Given the description of an element on the screen output the (x, y) to click on. 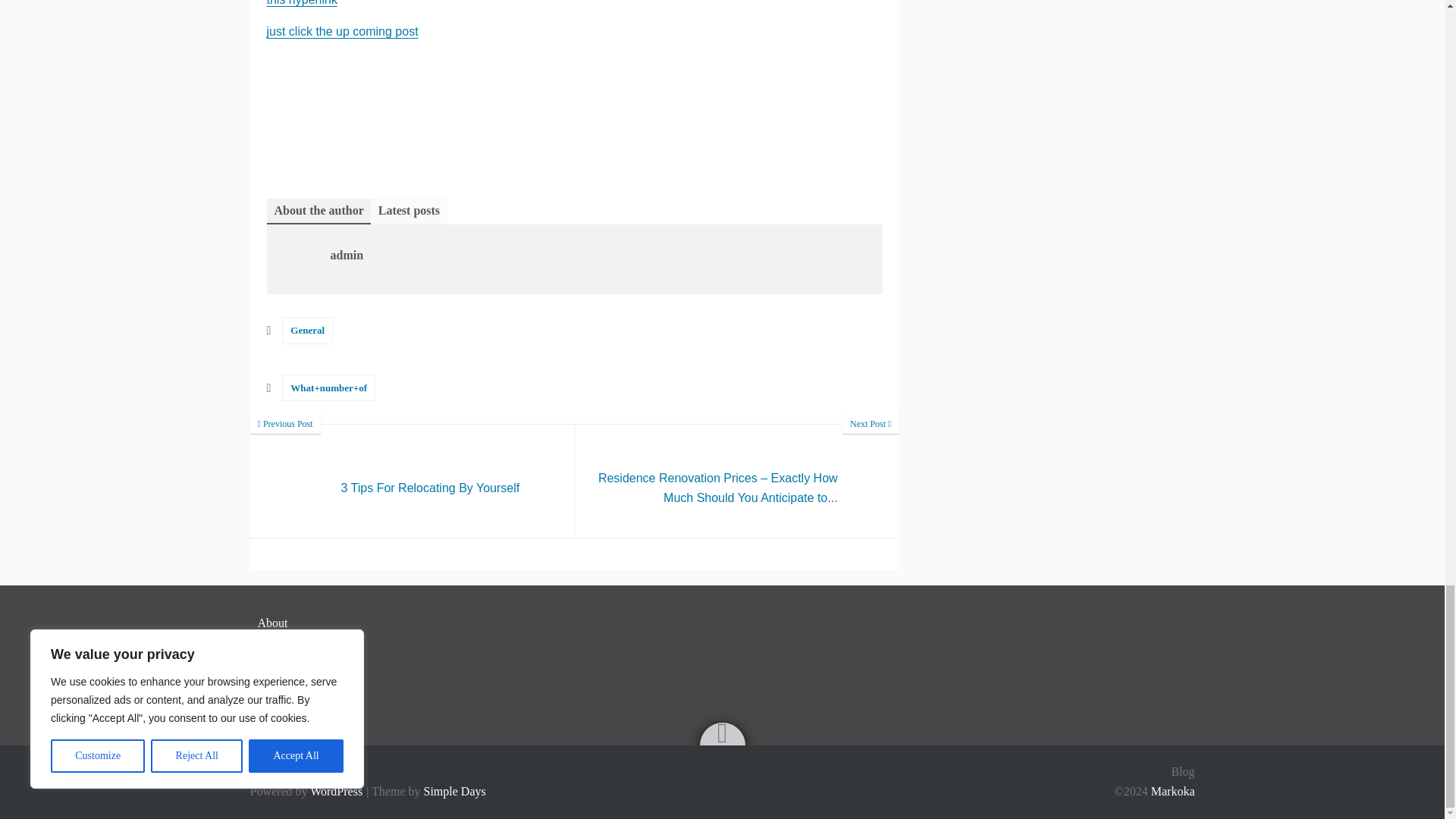
this hyperlink (301, 2)
General (307, 329)
just click the up coming post (412, 480)
3 Tips For Relocating By Yourself (342, 31)
